Given the description of an element on the screen output the (x, y) to click on. 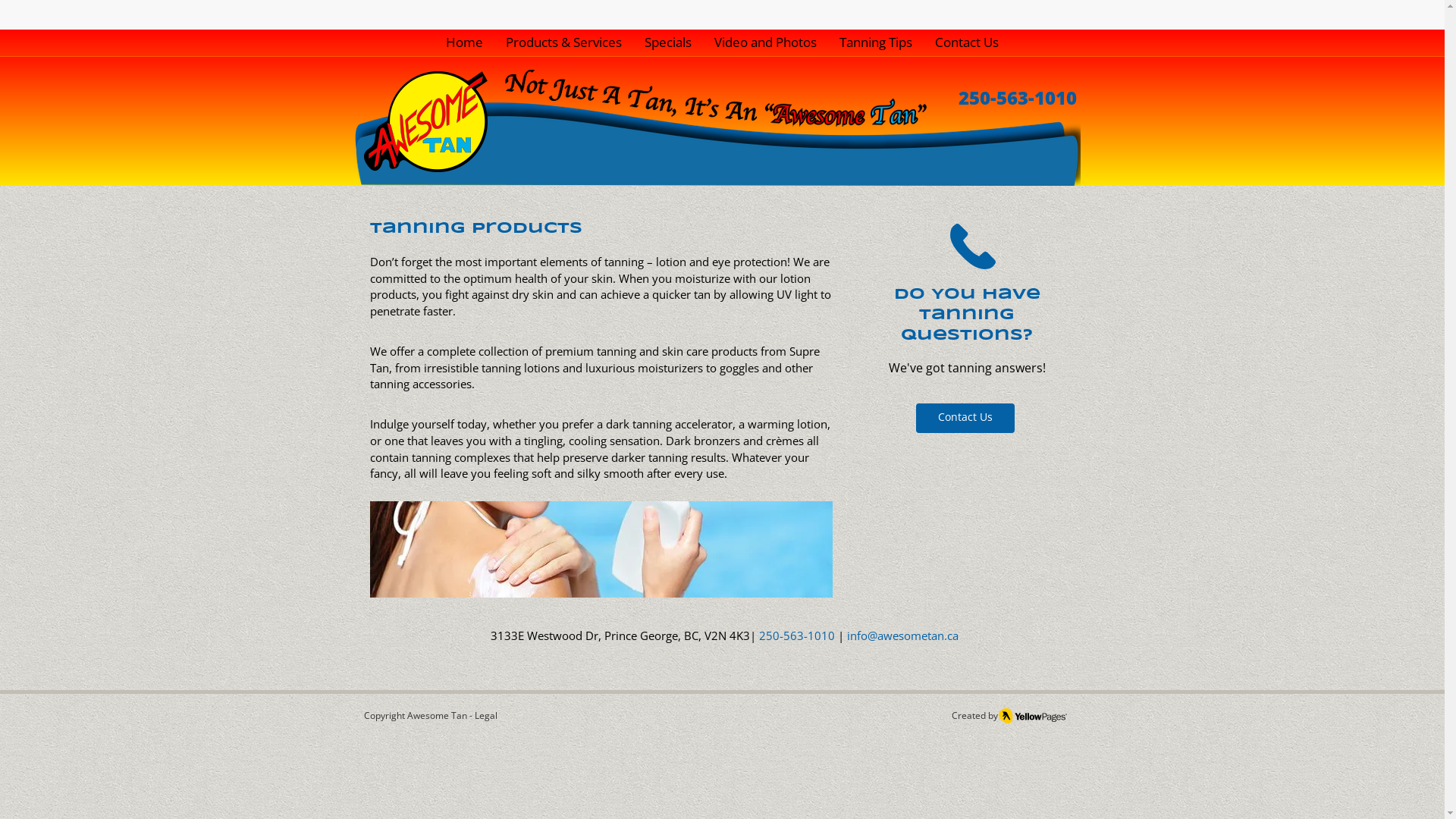
Video and Photos Element type: text (764, 42)
info@awesometan.ca Element type: text (901, 637)
Contact Us Element type: text (966, 42)
Products & Services Element type: text (563, 42)
Embedded Content Element type: hover (1063, 19)
Contact Us Element type: text (964, 416)
Embedded Content Element type: hover (938, 22)
250-563-1010 Element type: text (1017, 96)
Specials Element type: text (667, 42)
Awesome Tan Element type: text (436, 715)
250-563-1010 Element type: text (796, 635)
Legal Element type: text (485, 715)
Tanning Tips Element type: text (875, 42)
Home Element type: text (463, 42)
